Given the description of an element on the screen output the (x, y) to click on. 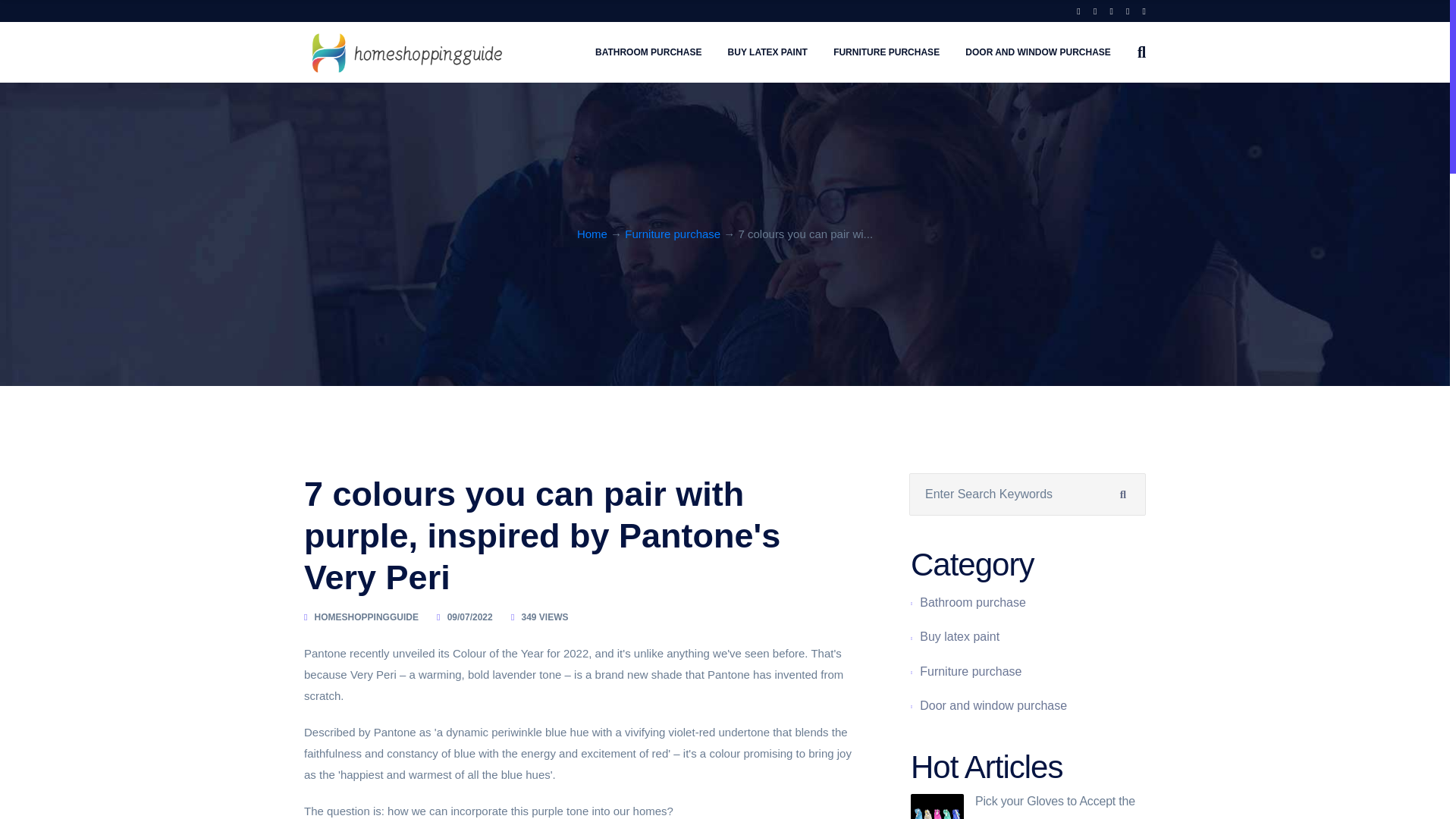
Door and window purchase (993, 705)
Pick your Gloves to Accept the Duel of the World (1055, 806)
Pick your Gloves to Accept the Duel of the World (1055, 806)
349 VIEWS (544, 617)
Bathroom purchase (973, 602)
BATHROOM PURCHASE (648, 52)
Furniture purchase (672, 233)
Pick your Gloves to Accept the Duel of the World (937, 806)
HOMESHOPPINGGUIDE (366, 617)
Bathroom purchase (973, 602)
Buy latex paint (959, 636)
Door and window purchase (993, 705)
Home (591, 233)
FURNITURE PURCHASE (886, 52)
